Given the description of an element on the screen output the (x, y) to click on. 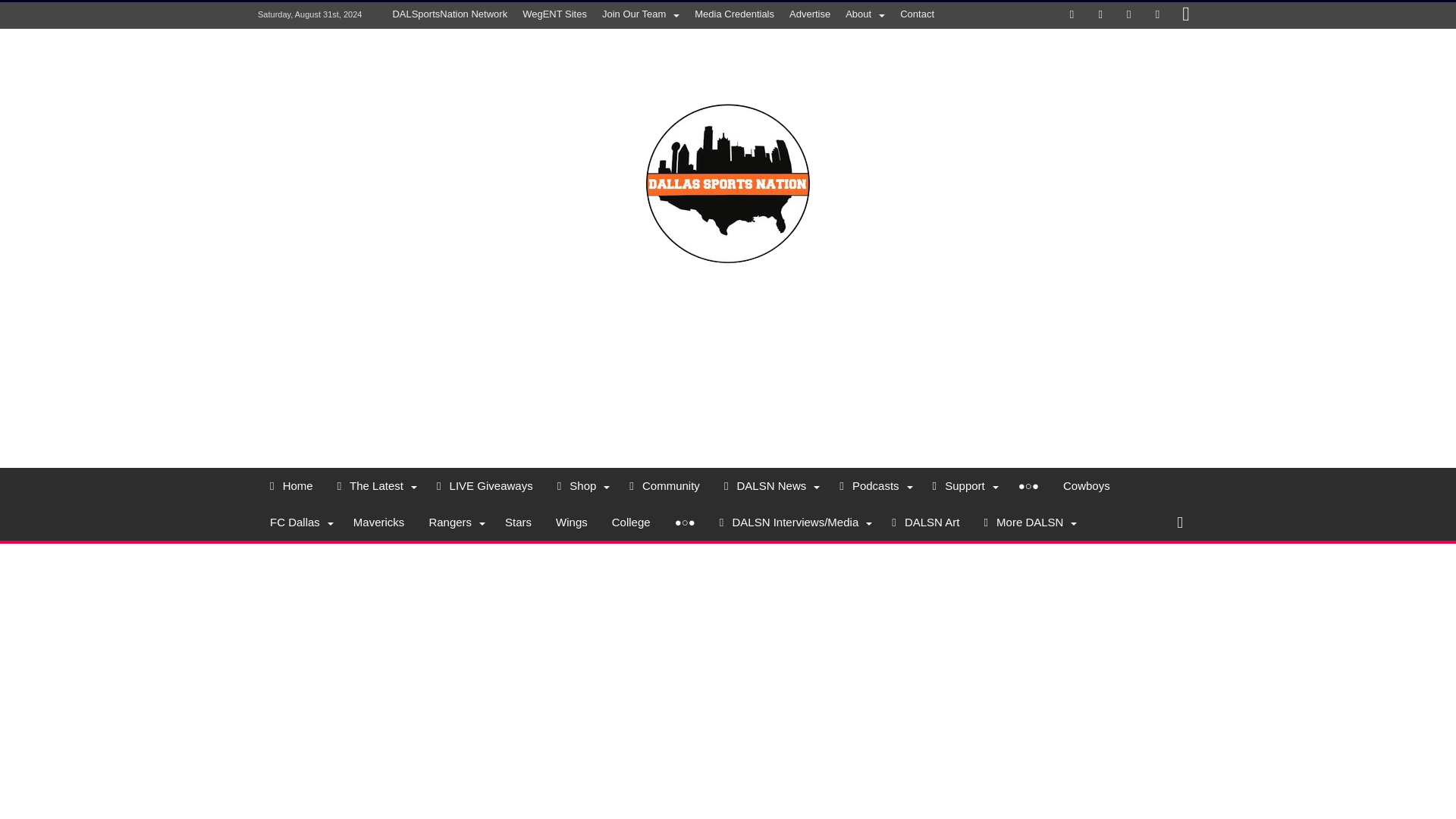
About (865, 14)
Home (290, 485)
WegENT Sites (554, 14)
Twitter (1099, 15)
Realtime sports scoreboard widget (727, 366)
Podcasts (873, 485)
Join Our Team (640, 14)
LinkedIn (1128, 15)
Dallas Sports Nation (727, 81)
DALSN News (769, 485)
